Given the description of an element on the screen output the (x, y) to click on. 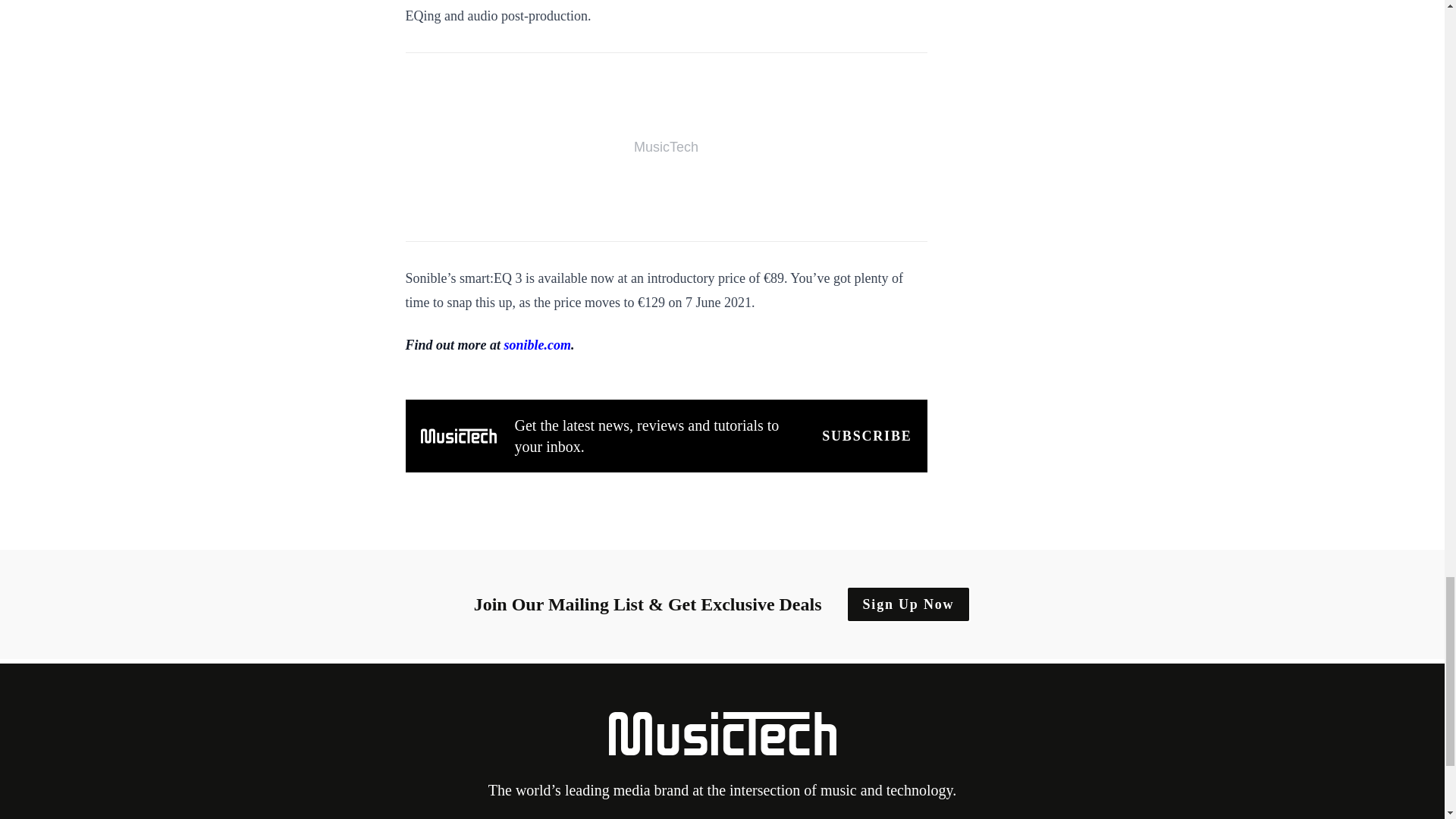
Join our mailing list (866, 435)
SUBSCRIBE (866, 435)
sonible.com (537, 344)
